Given the description of an element on the screen output the (x, y) to click on. 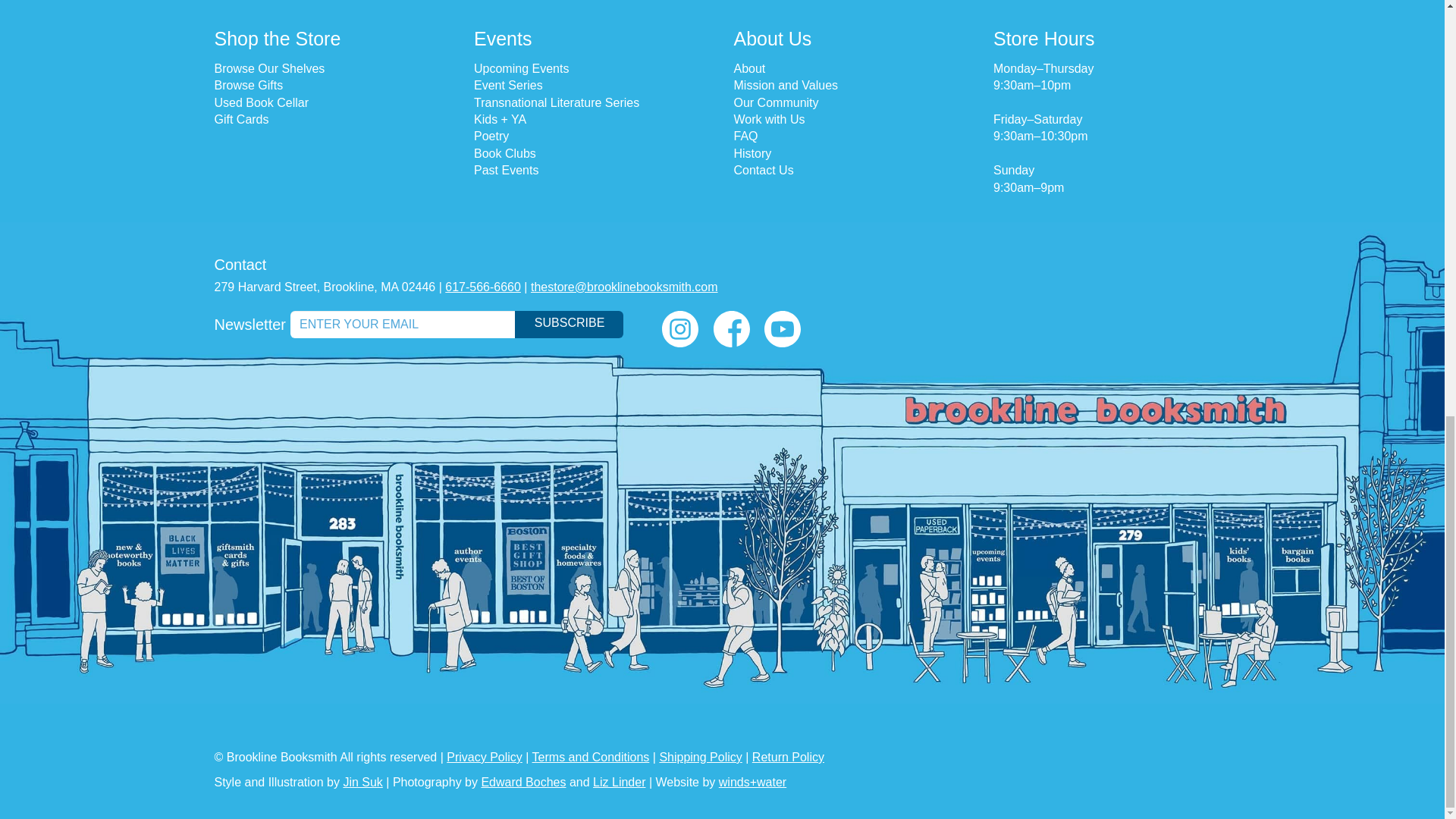
Subscribe (569, 324)
